Given the description of an element on the screen output the (x, y) to click on. 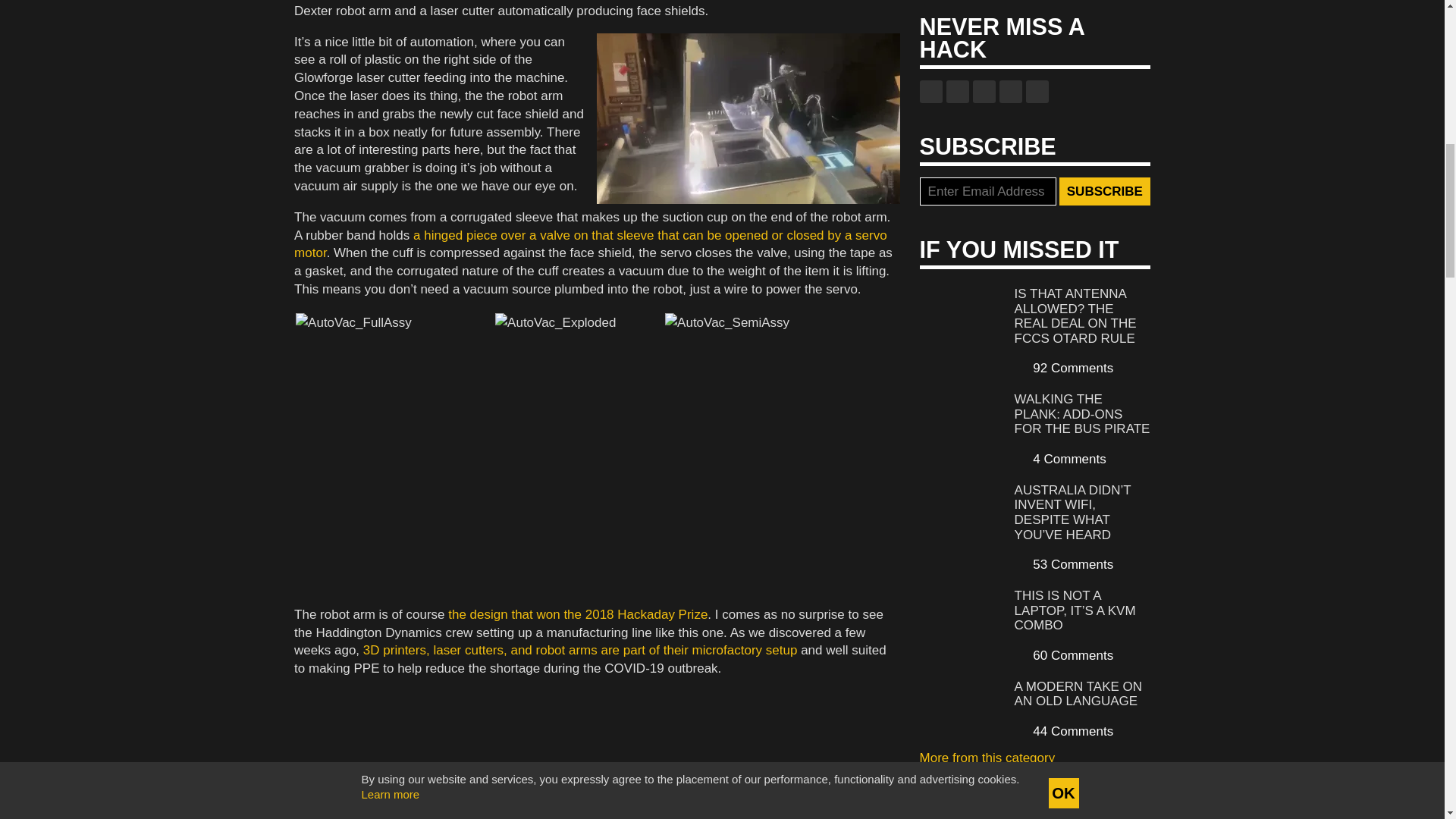
the design that won the 2018 Hackaday Prize (577, 614)
Subscribe (1104, 191)
